Given the description of an element on the screen output the (x, y) to click on. 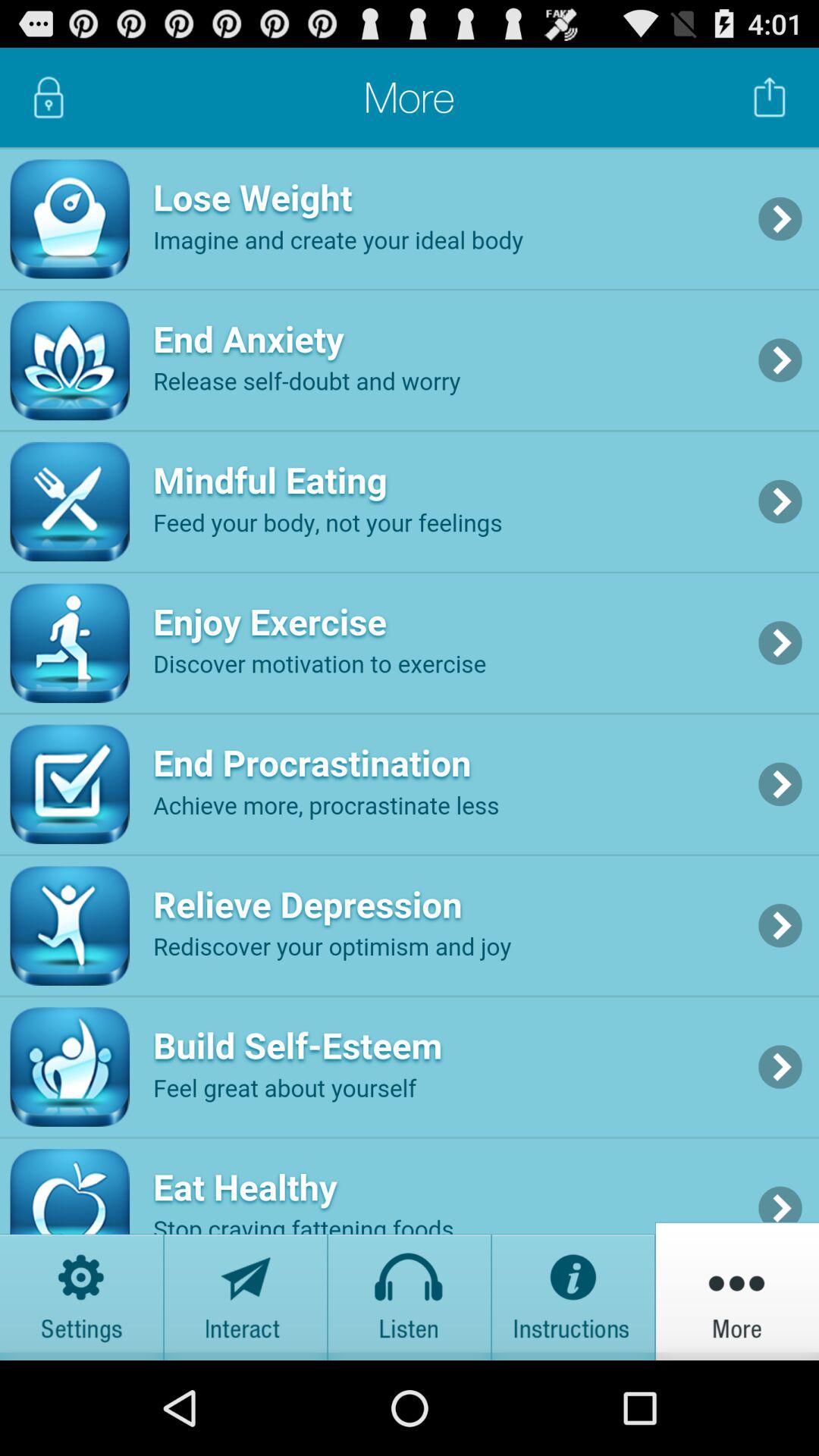
listen (409, 1290)
